Given the description of an element on the screen output the (x, y) to click on. 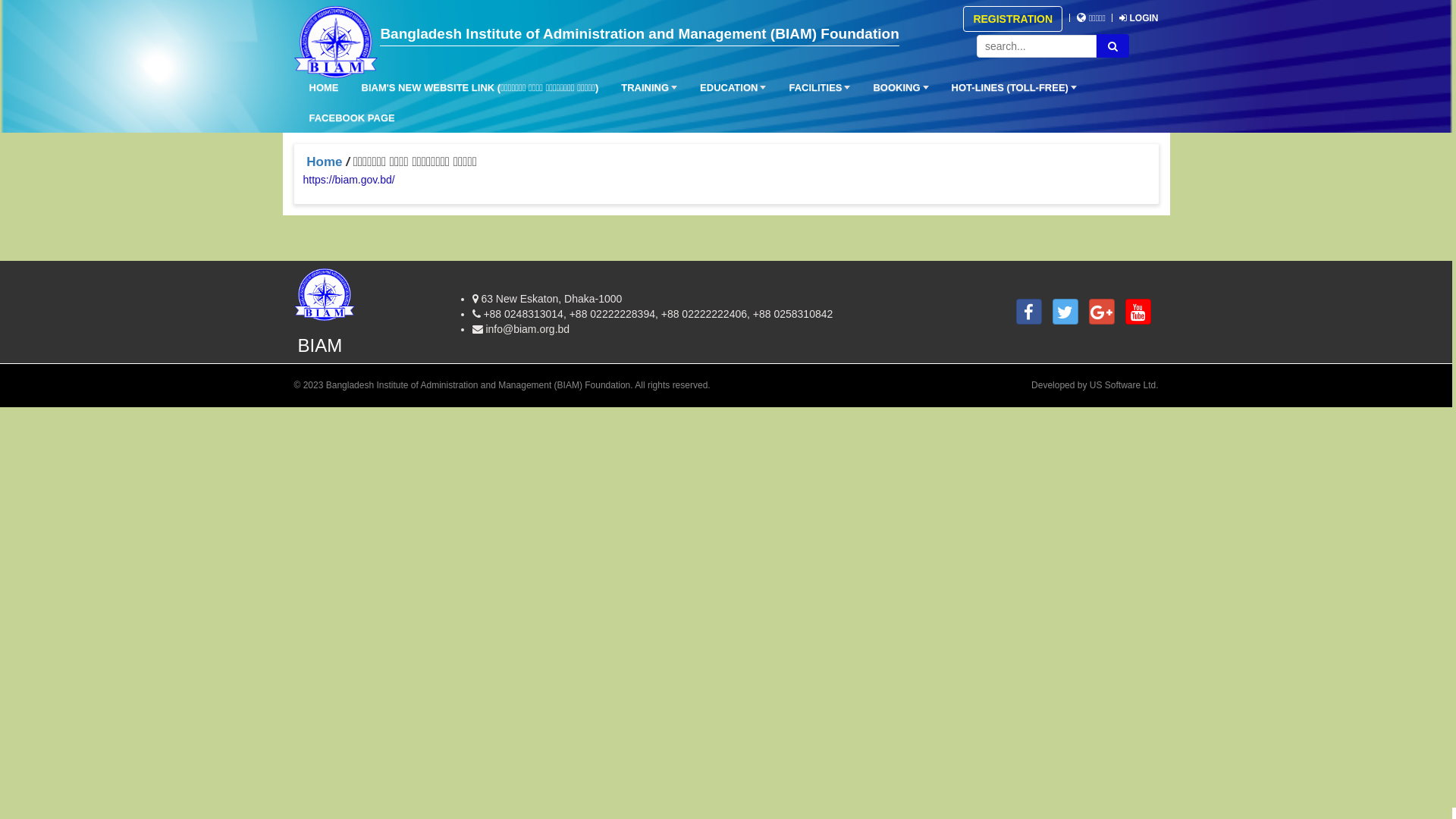
TRAINING Element type: text (644, 88)
 LOGIN Element type: text (1138, 17)
FACILITIES Element type: text (815, 88)
Developed by US Software Ltd. Element type: text (1094, 384)
HOT-LINES (TOLL-FREE) Element type: text (1010, 88)
Home Element type: text (324, 161)
EDUCATION Element type: text (728, 88)
REGISTRATION Element type: text (1012, 17)
https://biam.gov.bd/ Element type: text (349, 179)
BOOKING Element type: text (896, 88)
FACEBOOK PAGE Element type: text (348, 118)
HOME Element type: text (320, 88)
